Given the description of an element on the screen output the (x, y) to click on. 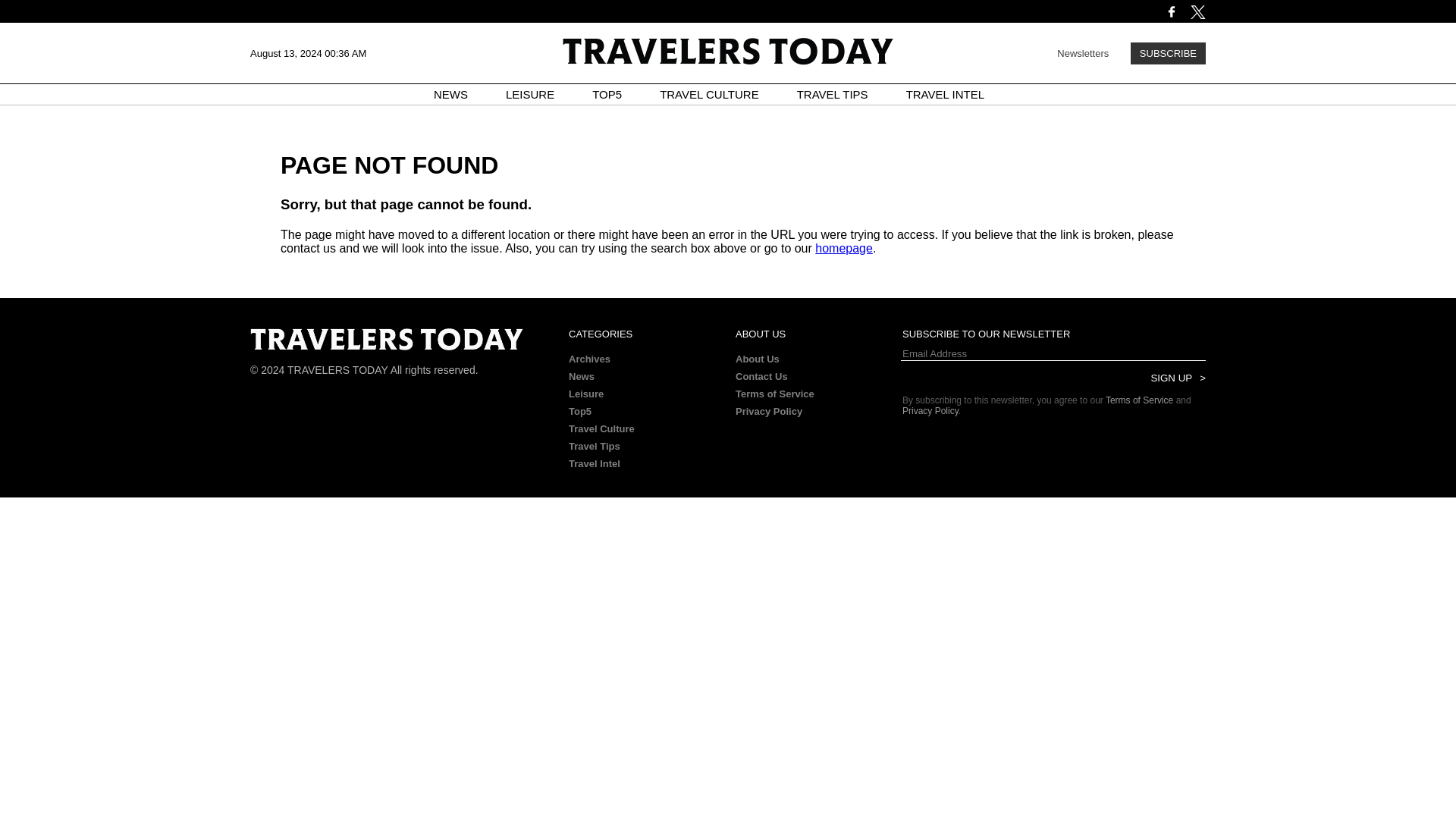
Privacy Policy (768, 410)
TOP5 (606, 93)
Terms of Service (774, 393)
Top5 (580, 410)
Archives (589, 358)
News (581, 376)
SUBSCRIBE (1168, 53)
Travel Culture (601, 428)
TRAVEL INTEL (944, 93)
Leisure (586, 393)
